Given the description of an element on the screen output the (x, y) to click on. 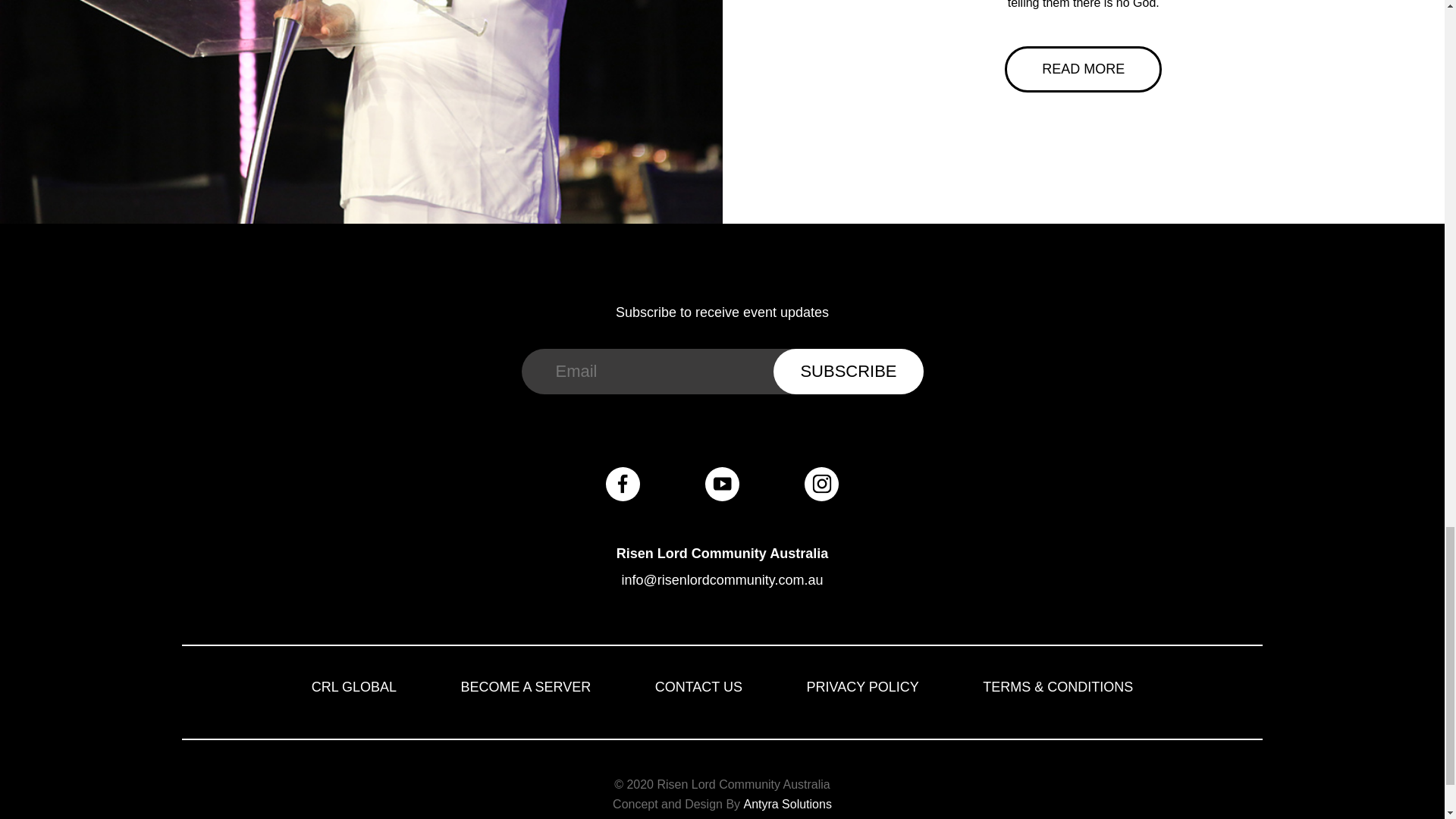
CONTACT US (698, 686)
CRL GLOBAL (353, 686)
Subscribe (848, 370)
Subscribe (848, 370)
PRIVACY POLICY (862, 686)
READ MORE (1082, 68)
BECOME A SERVER (526, 686)
Antyra Solutions (786, 803)
